Given the description of an element on the screen output the (x, y) to click on. 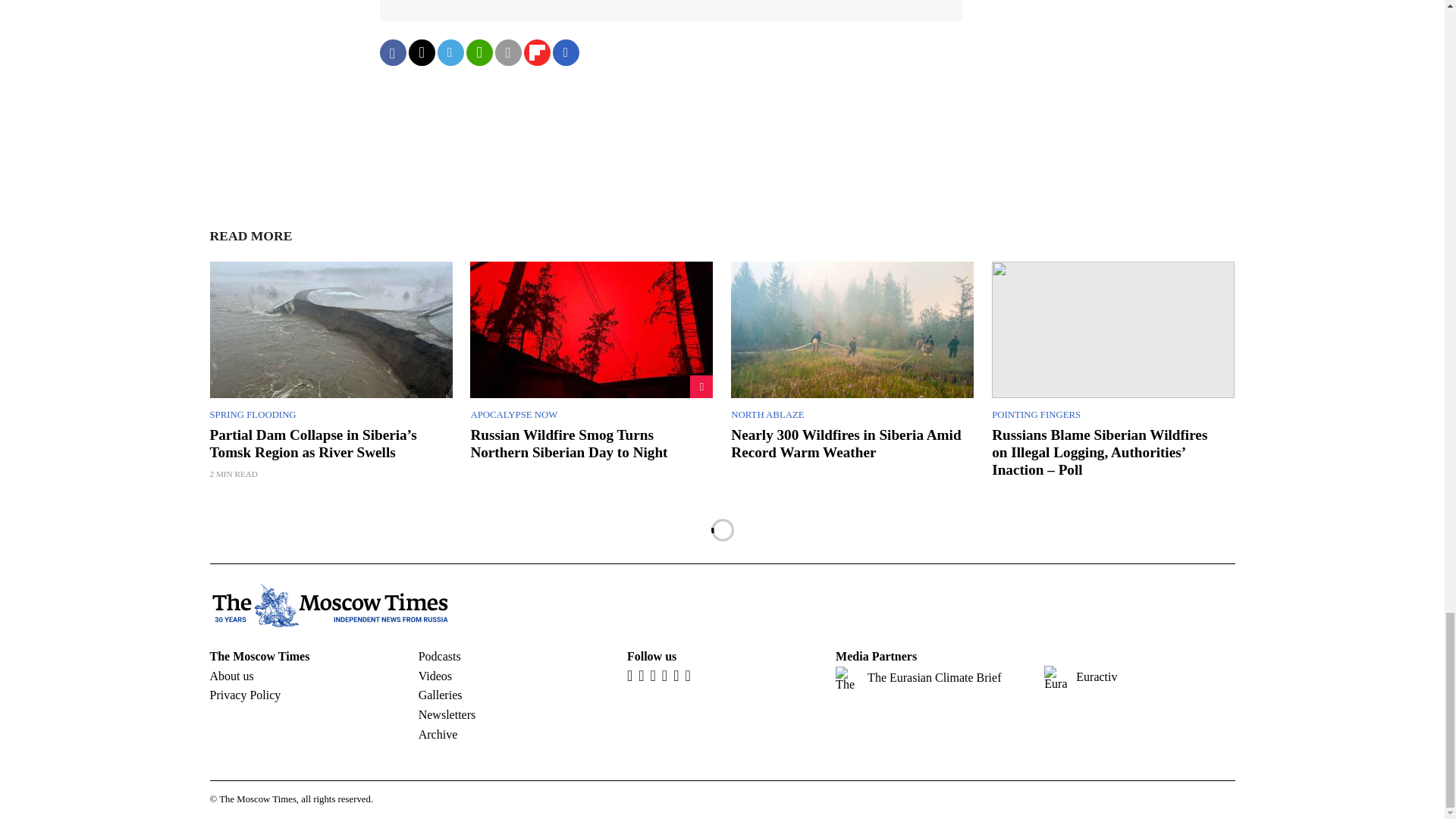
Share on Facebook (392, 52)
Share on Twitter (420, 52)
Share on Telegram (449, 52)
